Given the description of an element on the screen output the (x, y) to click on. 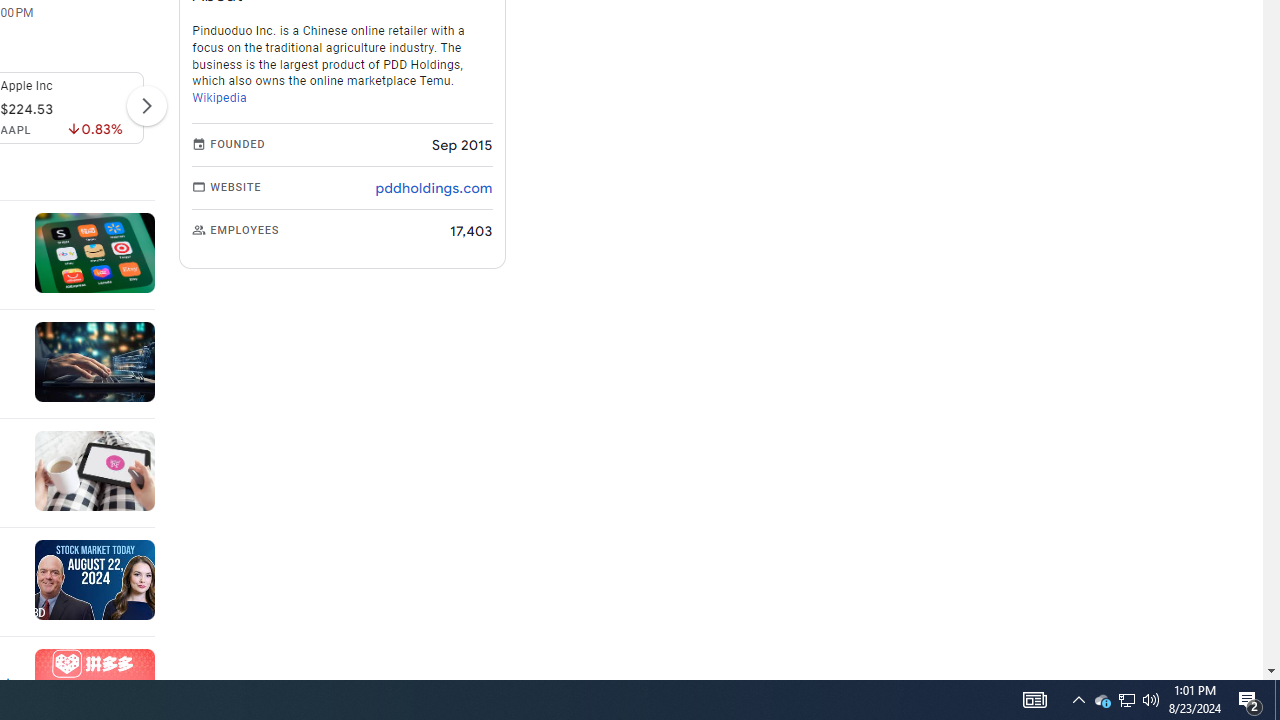
pddholdings.com (433, 187)
Wikipedia (219, 97)
